Given the description of an element on the screen output the (x, y) to click on. 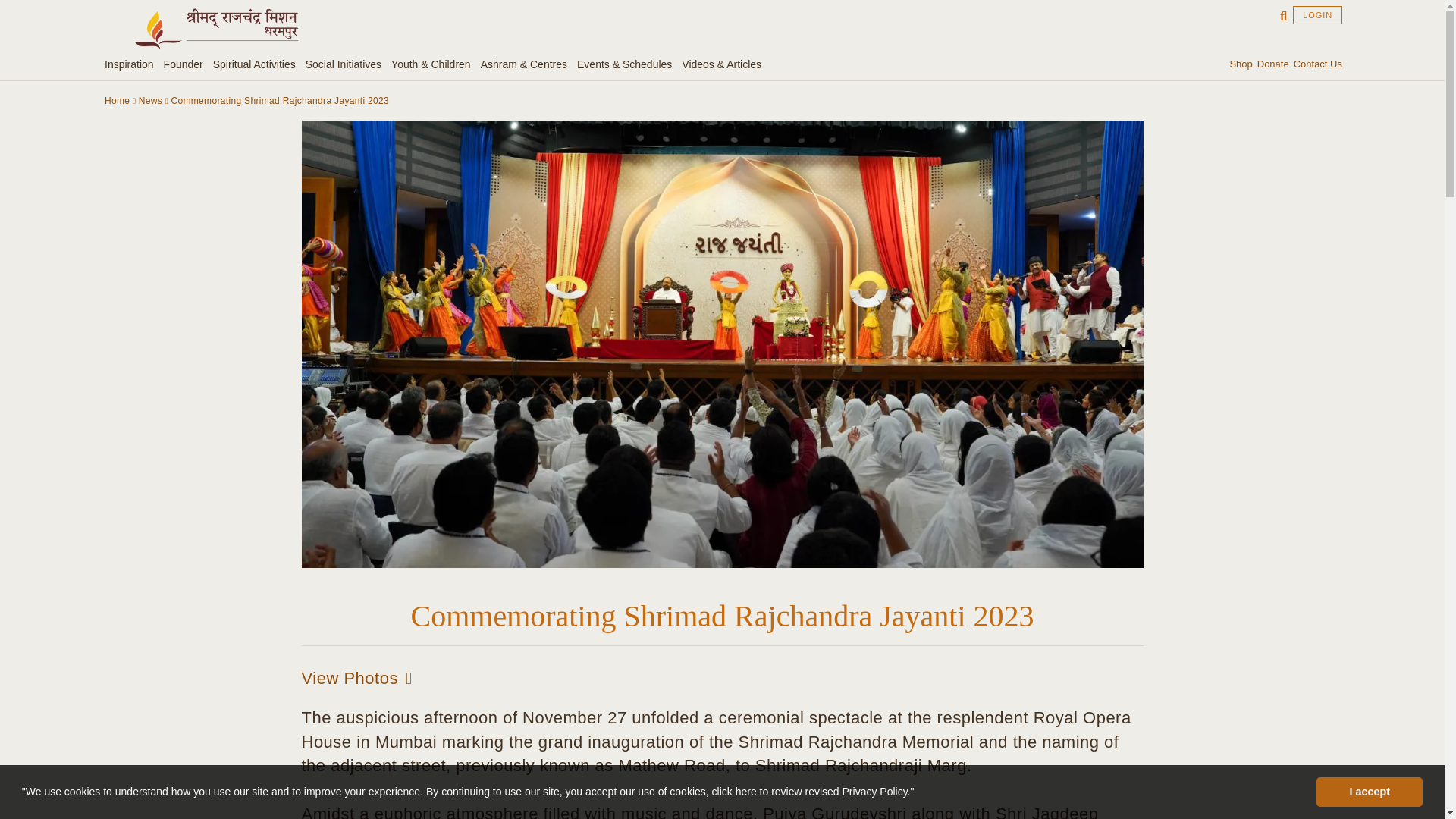
I accept (1369, 791)
Spiritual Activities (256, 64)
click here to review revised Privacy Policy." (812, 791)
Login (1317, 14)
LOGIN (1317, 14)
Founder (185, 64)
Shrimad Rajchandra Mission Dharampur (215, 28)
Inspiration (131, 64)
